Given the description of an element on the screen output the (x, y) to click on. 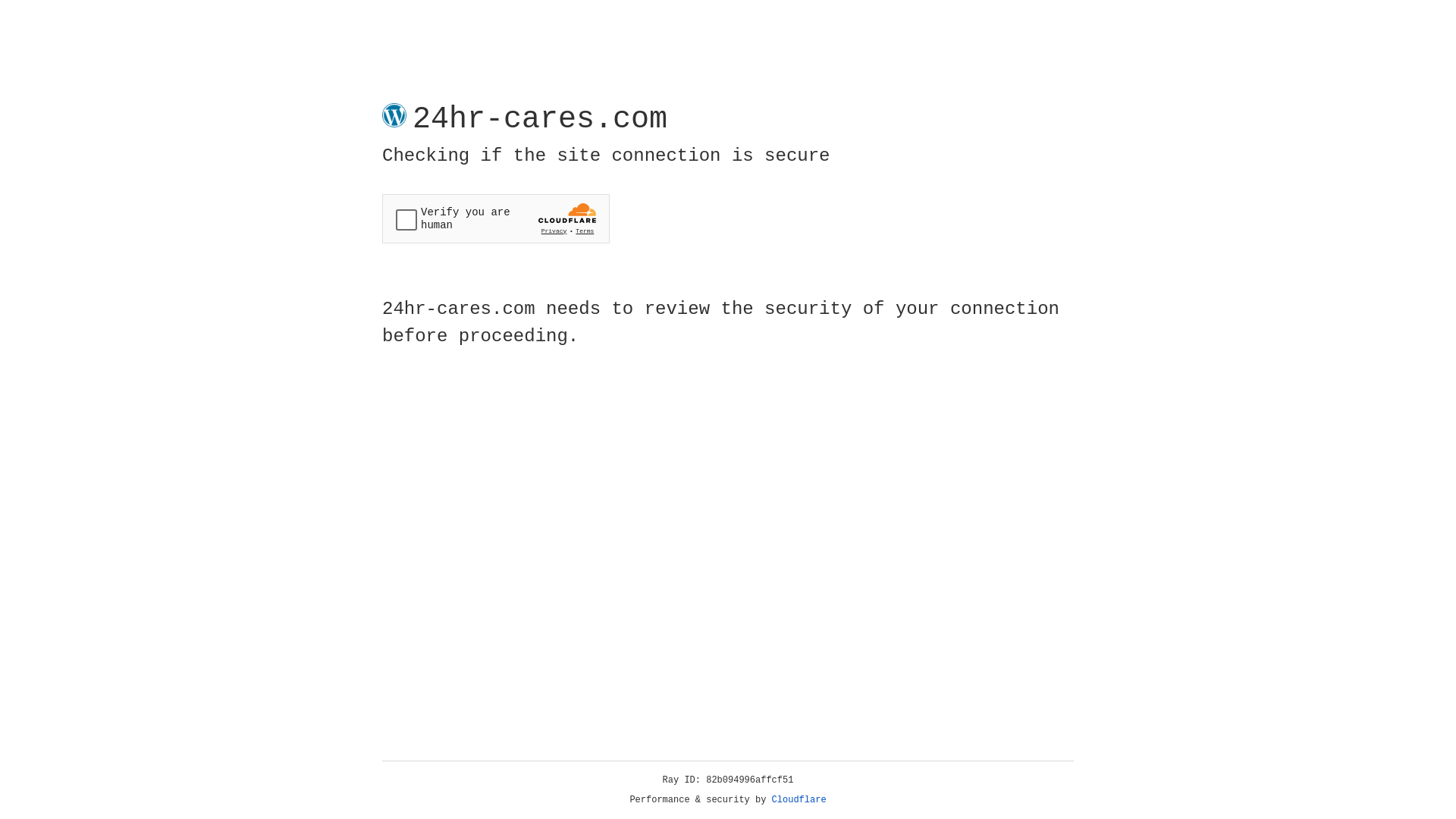
Cloudflare Element type: text (798, 799)
Widget containing a Cloudflare security challenge Element type: hover (495, 218)
